Given the description of an element on the screen output the (x, y) to click on. 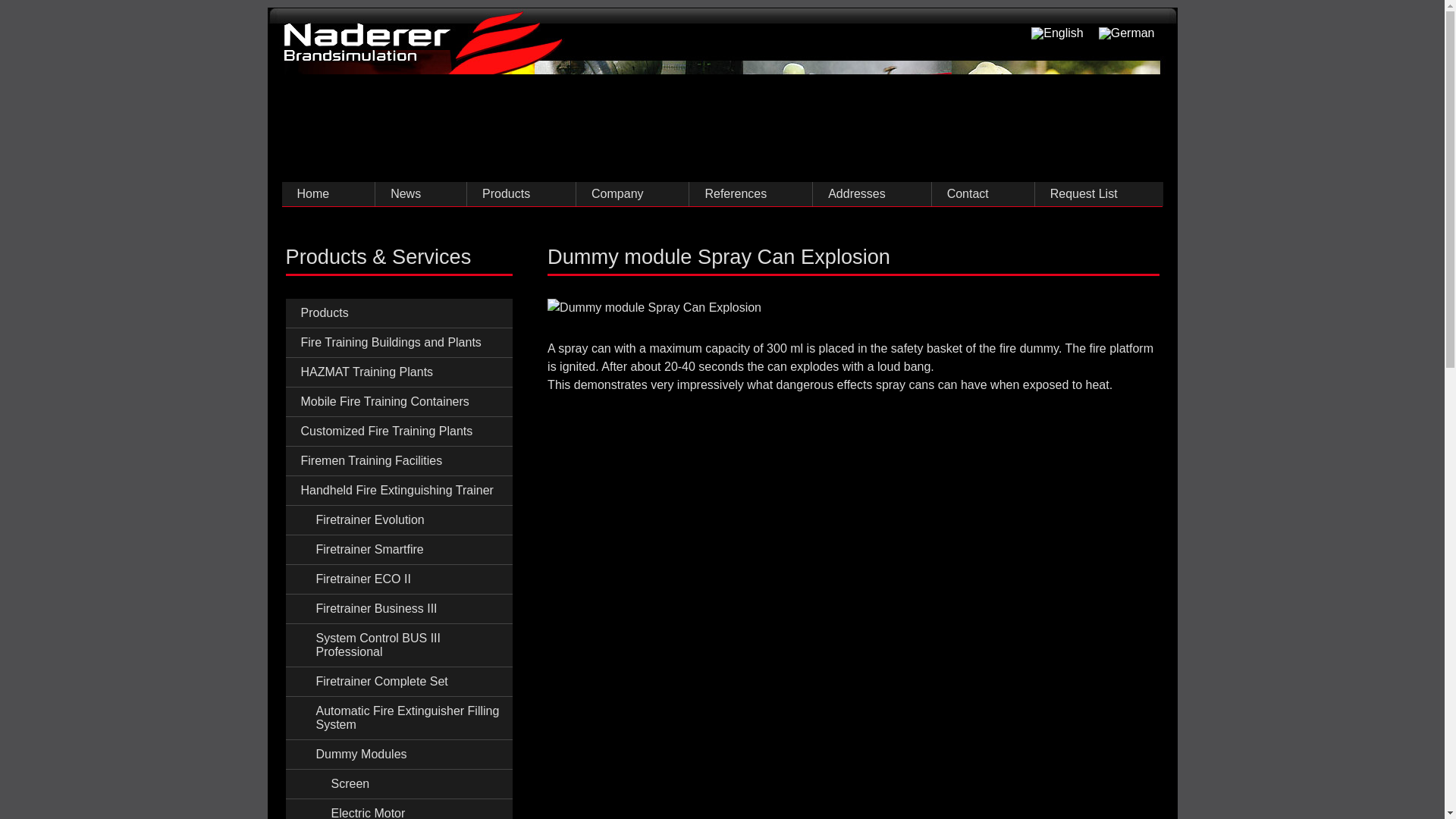
Customized Fire Training Plants (398, 431)
Mobile Fire Training Containers (398, 401)
Addresses (871, 193)
Fire Training Buildings and Plants (398, 342)
Products (520, 193)
News (419, 193)
Request List (1098, 193)
HAZMAT Training Plants (398, 372)
Company (631, 193)
Contact (982, 193)
